Given the description of an element on the screen output the (x, y) to click on. 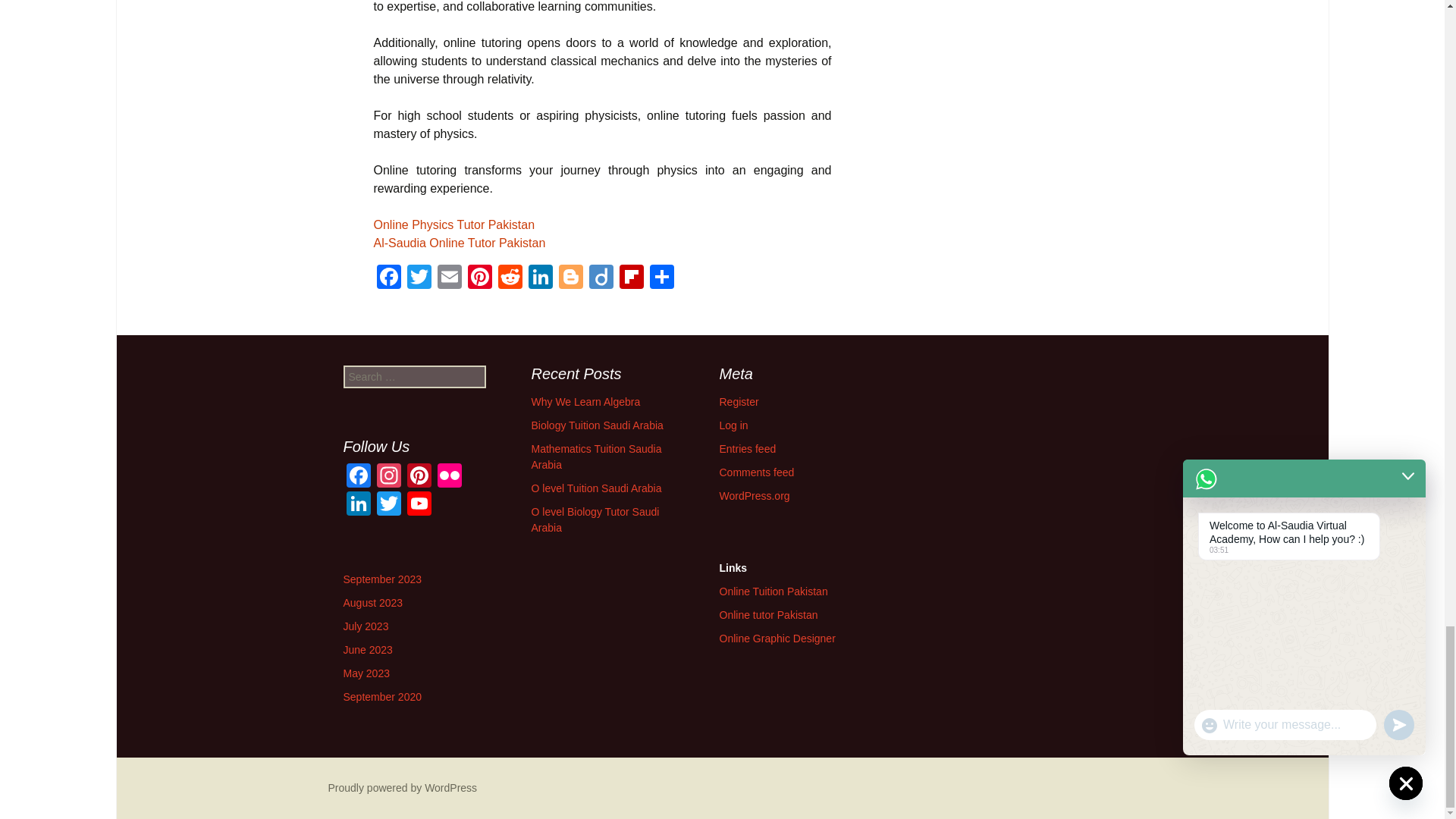
Facebook (357, 477)
Al-Saudia Online Tutor Pakistan (458, 242)
Blogger (569, 278)
Twitter (418, 278)
Pinterest (479, 278)
Instagram (387, 477)
Pinterest (418, 477)
LinkedIn (539, 278)
Flickr (448, 477)
Diigo (600, 278)
Facebook (387, 278)
Flipboard (630, 278)
Facebook (387, 278)
Online Physics Tutor Pakistan (453, 224)
Email (448, 278)
